Given the description of an element on the screen output the (x, y) to click on. 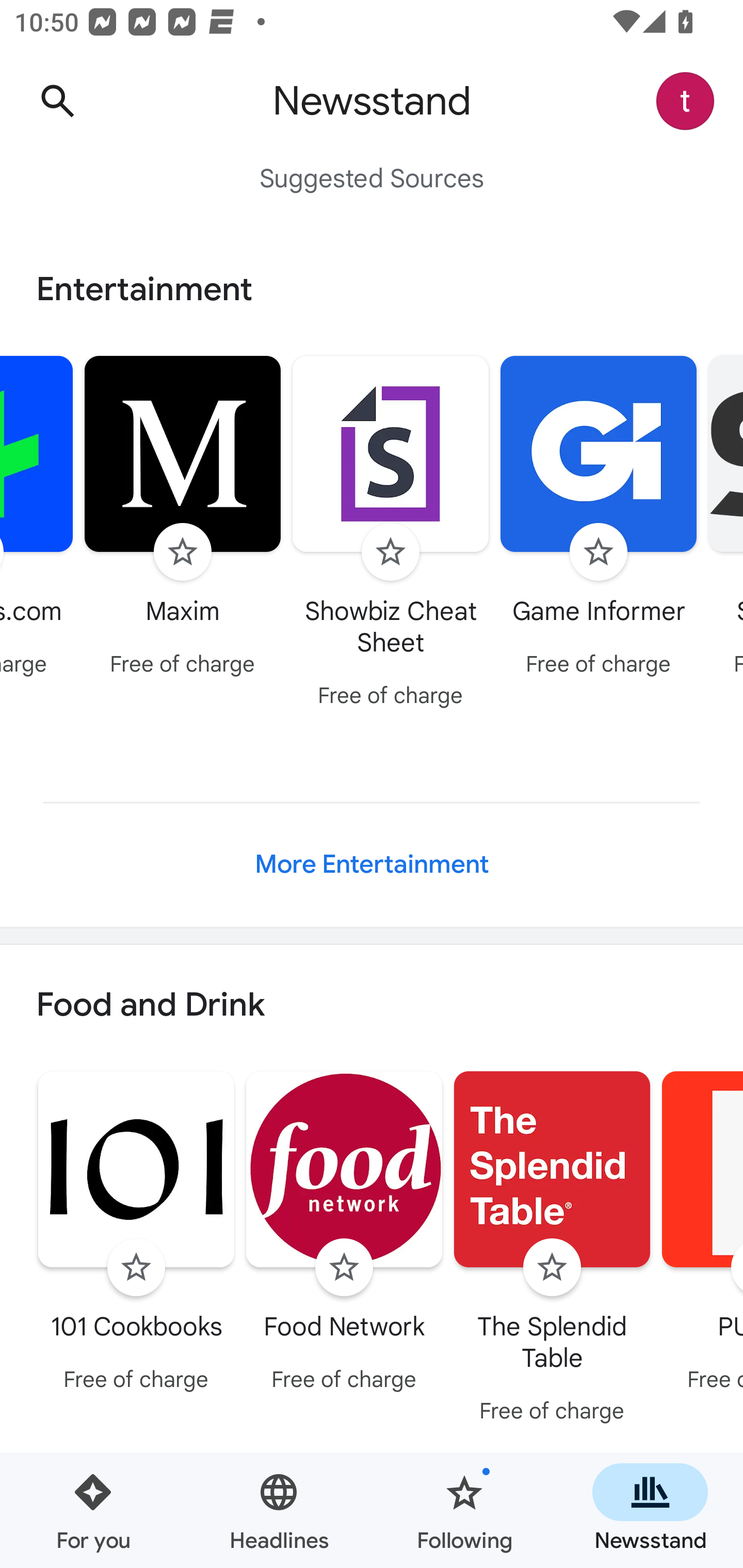
Search (57, 100)
Entertainment (371, 288)
Follow Maxim Free of charge (182, 517)
Follow Showbiz Cheat Sheet Free of charge (390, 534)
Follow Game Informer Free of charge (598, 517)
Follow (182, 551)
Follow (390, 551)
Follow (598, 551)
More Entertainment (371, 864)
Food and Drink (371, 1005)
Follow 101 Cookbooks Free of charge (136, 1234)
Follow Food Network Free of charge (344, 1234)
Follow The Splendid Table Free of charge (552, 1250)
Follow (135, 1267)
Follow (343, 1267)
Follow (552, 1267)
For you (92, 1509)
Headlines (278, 1509)
Following (464, 1509)
Newsstand (650, 1509)
